Given the description of an element on the screen output the (x, y) to click on. 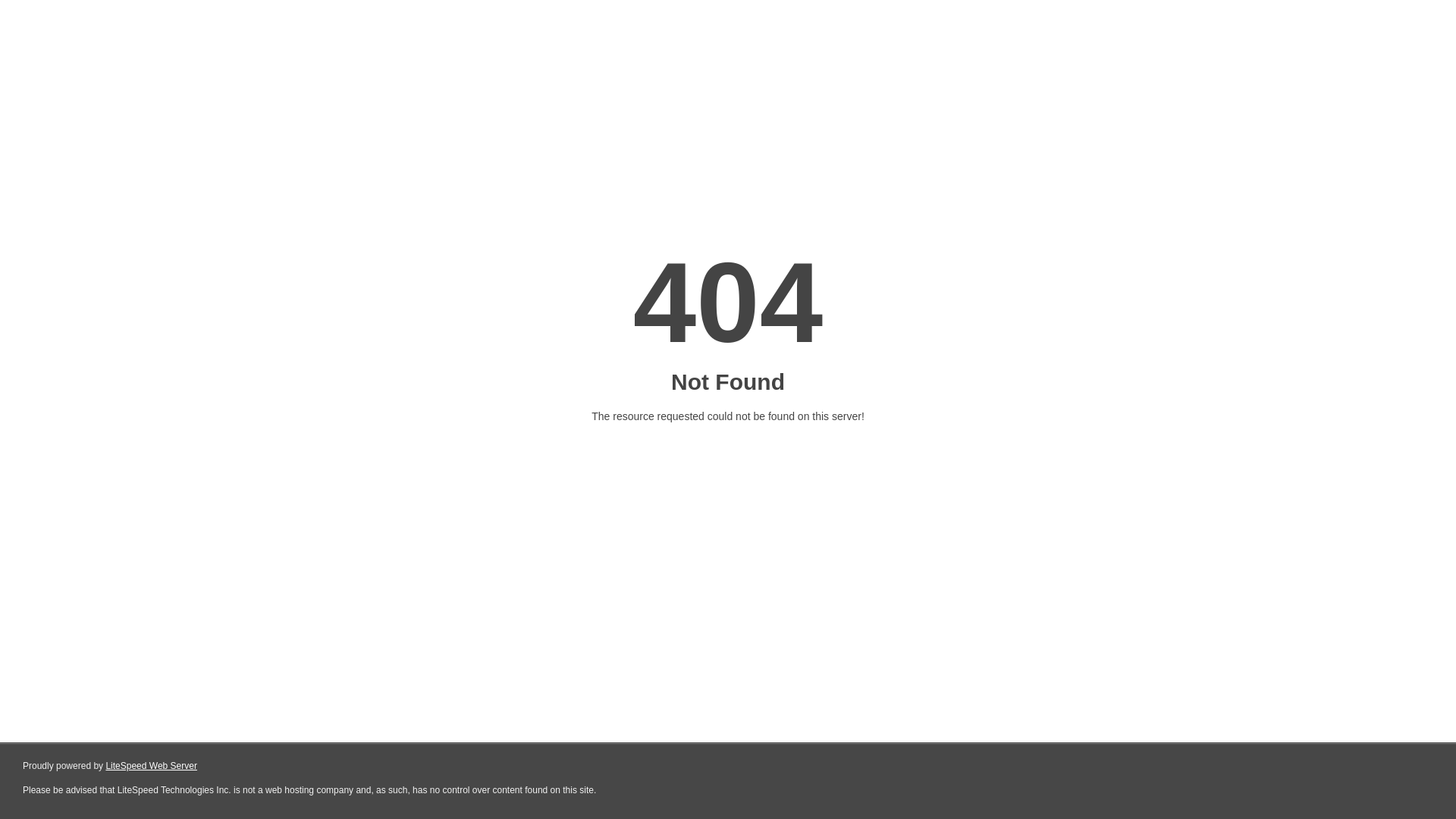
LiteSpeed Web Server Element type: text (151, 765)
